Given the description of an element on the screen output the (x, y) to click on. 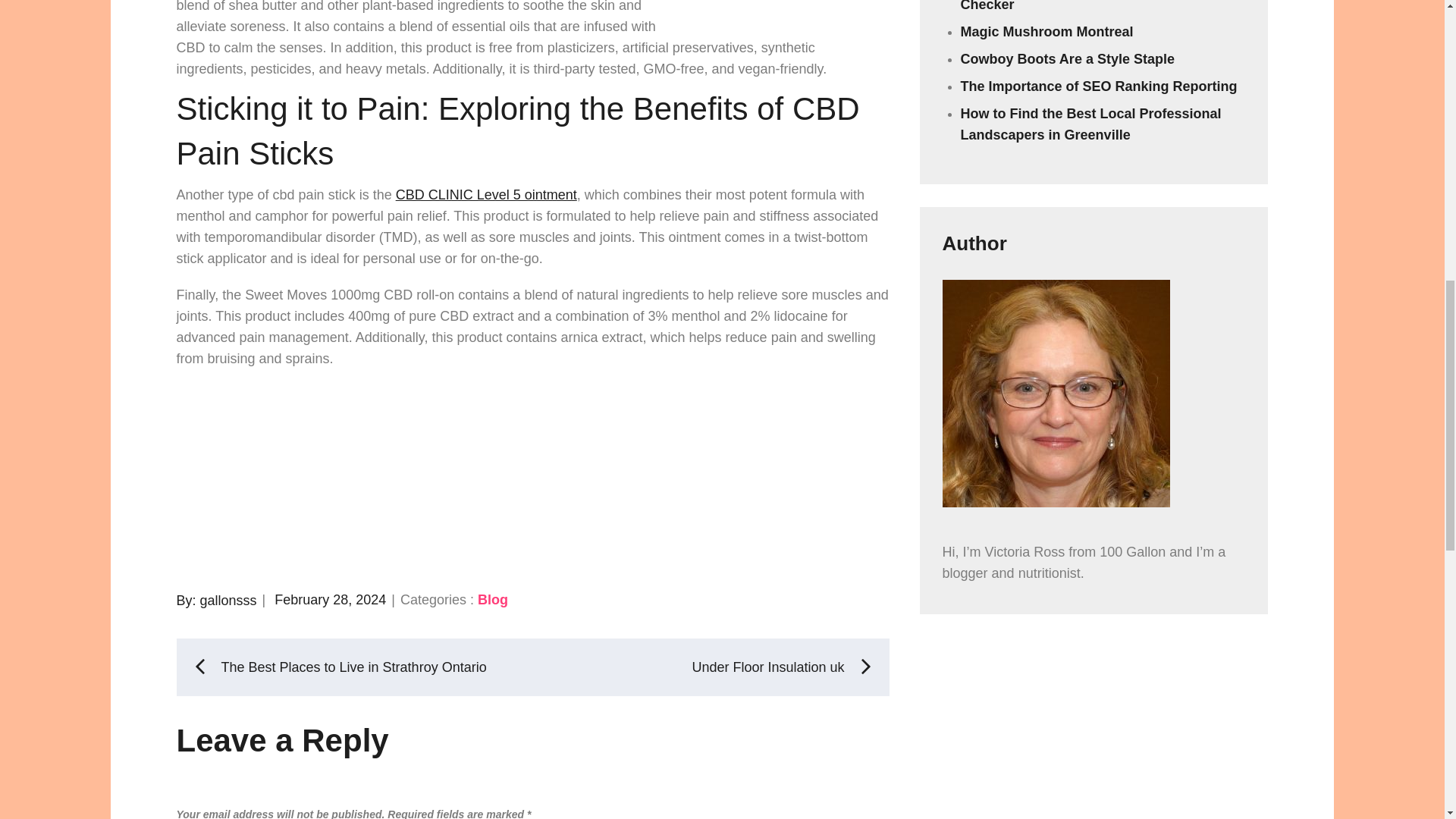
CBD CLINIC Level 5 ointment (486, 194)
Blog (492, 599)
gallonsss (228, 599)
Cowboy Boots Are a Style Staple (1067, 58)
The Importance of SEO Ranking Reporting (1098, 86)
February 28, 2024 (330, 599)
Magic Mushroom Montreal (1047, 31)
How to Use an Online Email Verification Checker (1089, 6)
